Given the description of an element on the screen output the (x, y) to click on. 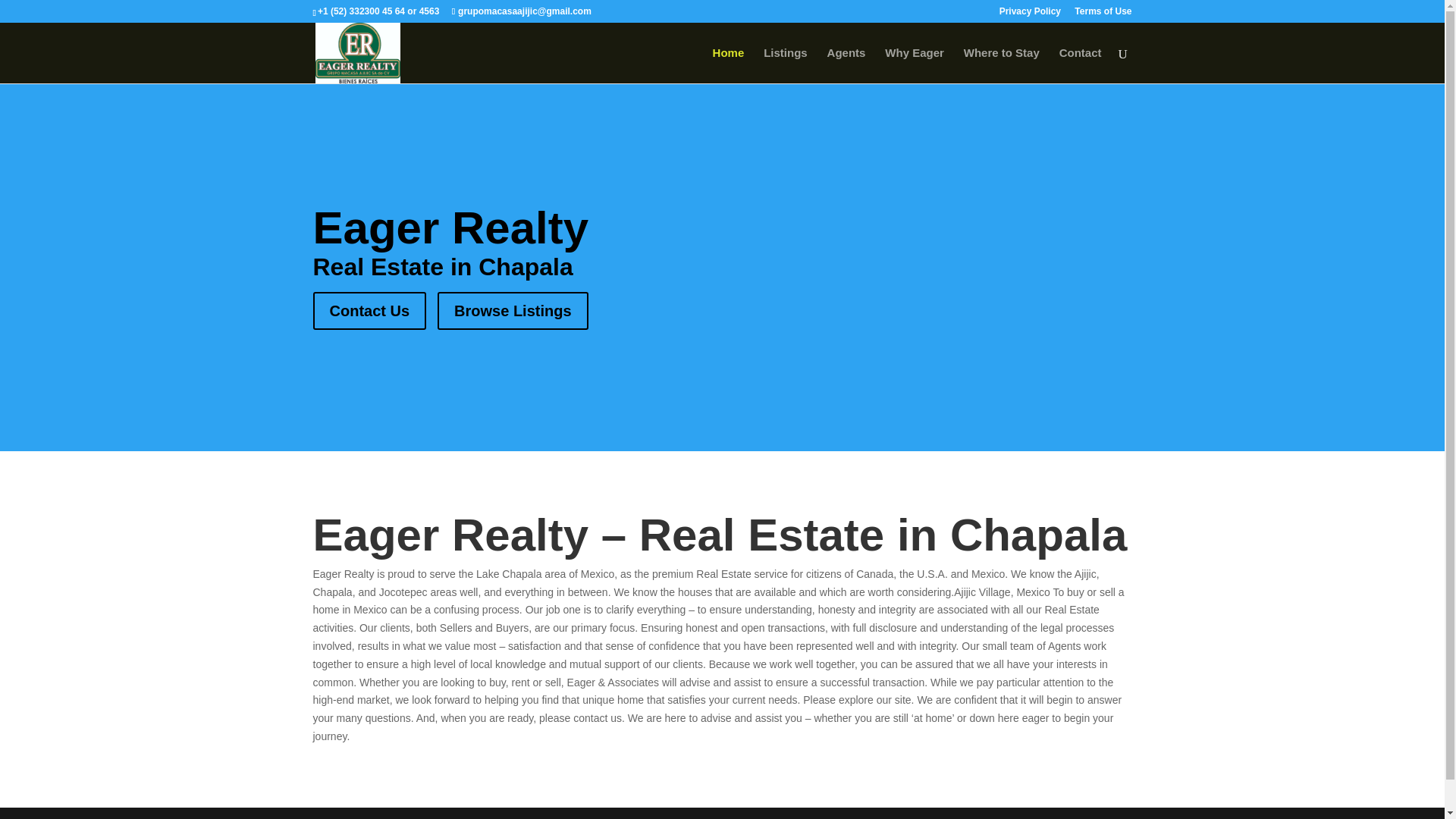
Home (728, 65)
Listings (785, 65)
Terms of Use (1102, 14)
Browse Listings (513, 310)
Contact Us (369, 310)
Why Eager (914, 65)
Where to Stay (1001, 65)
Privacy Policy (1029, 14)
Contact (1080, 65)
Agents (846, 65)
